Given the description of an element on the screen output the (x, y) to click on. 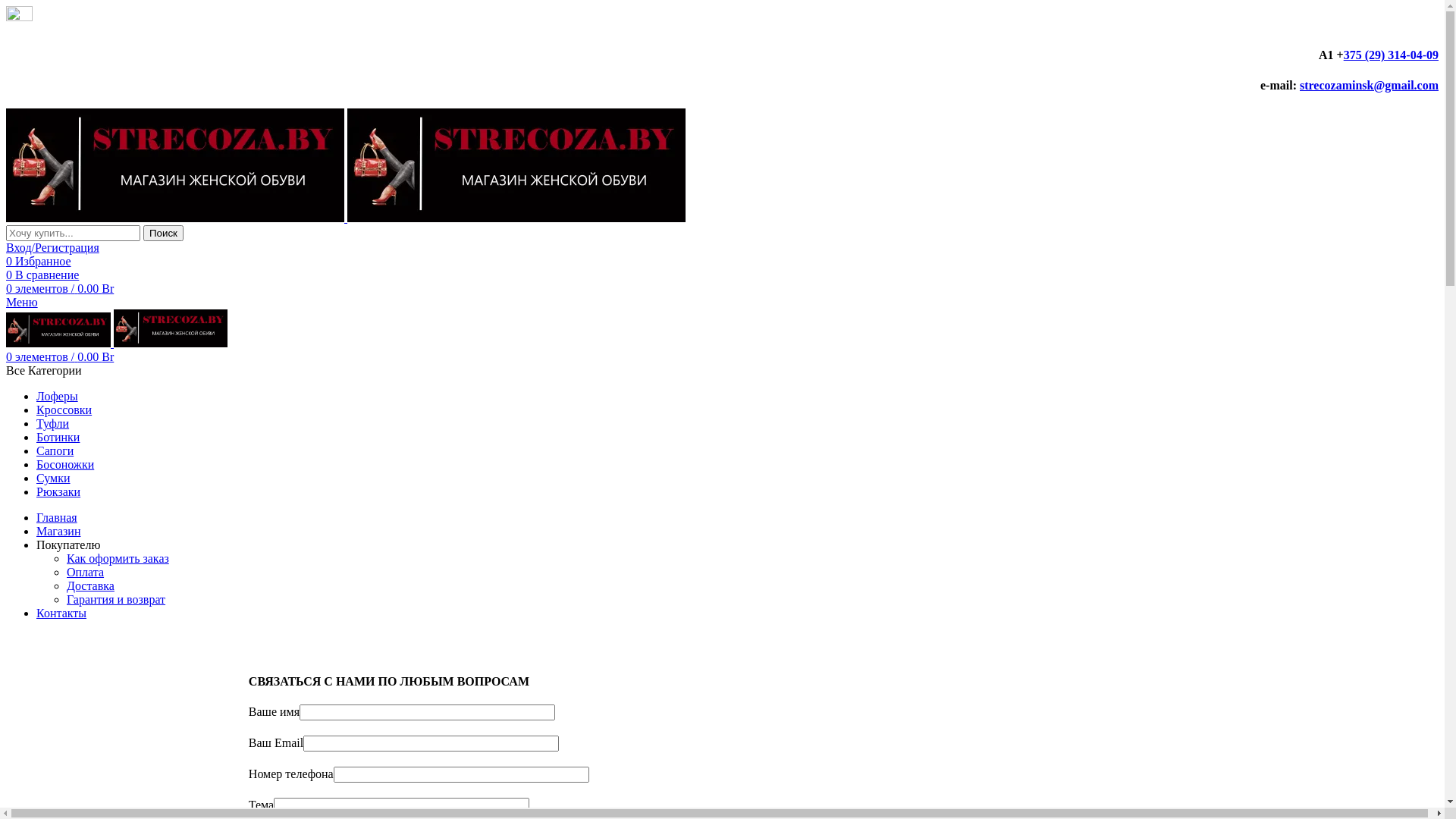
375 (29) 314-04-09 Element type: text (1390, 54)
strecozaminsk@gmail.com Element type: text (1368, 84)
